Given the description of an element on the screen output the (x, y) to click on. 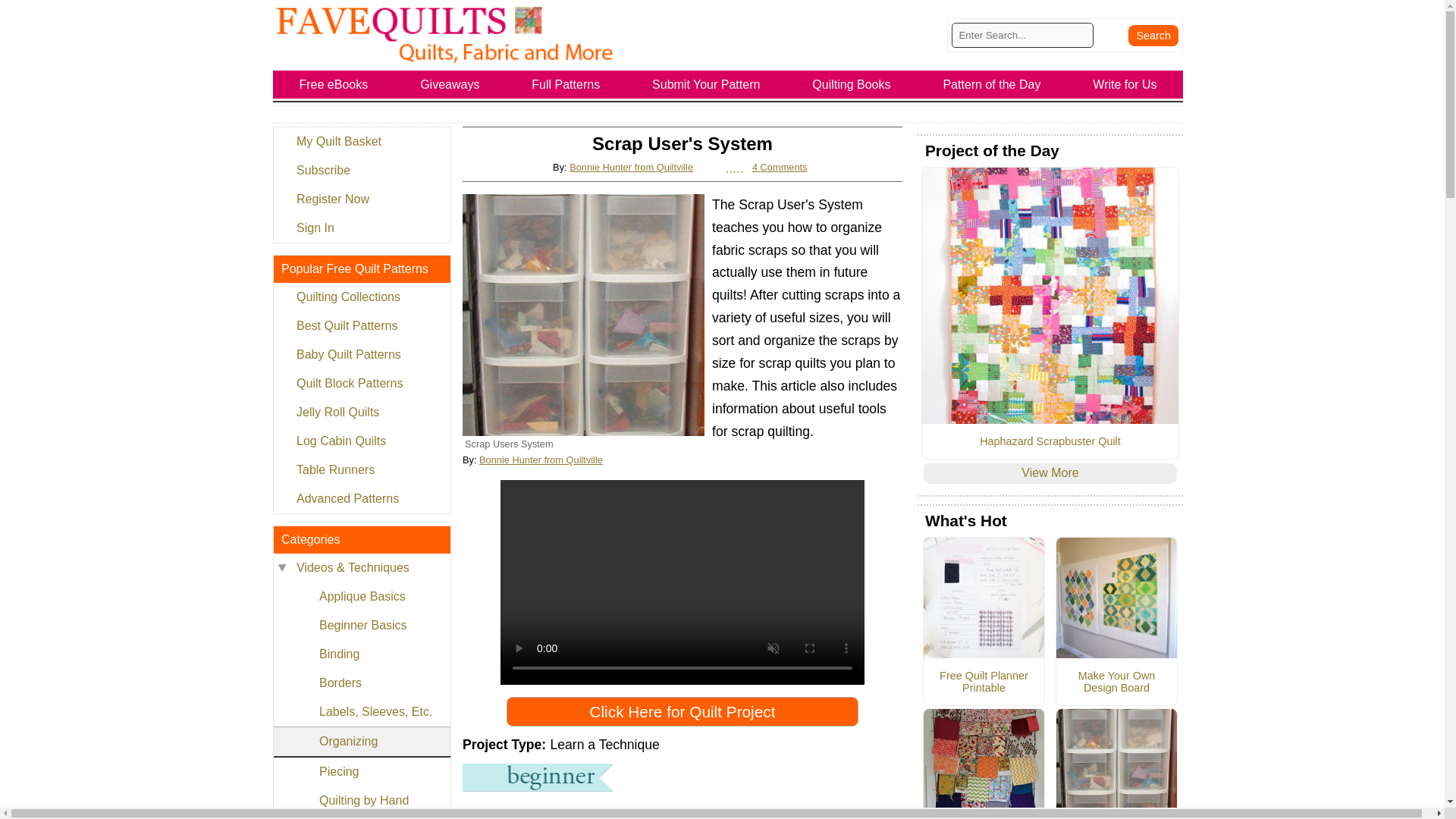
Register Now (361, 199)
Search (1152, 35)
Subscribe (361, 170)
Sign In (361, 227)
My Quilt Basket (361, 141)
Scrap Users System (583, 314)
